Given the description of an element on the screen output the (x, y) to click on. 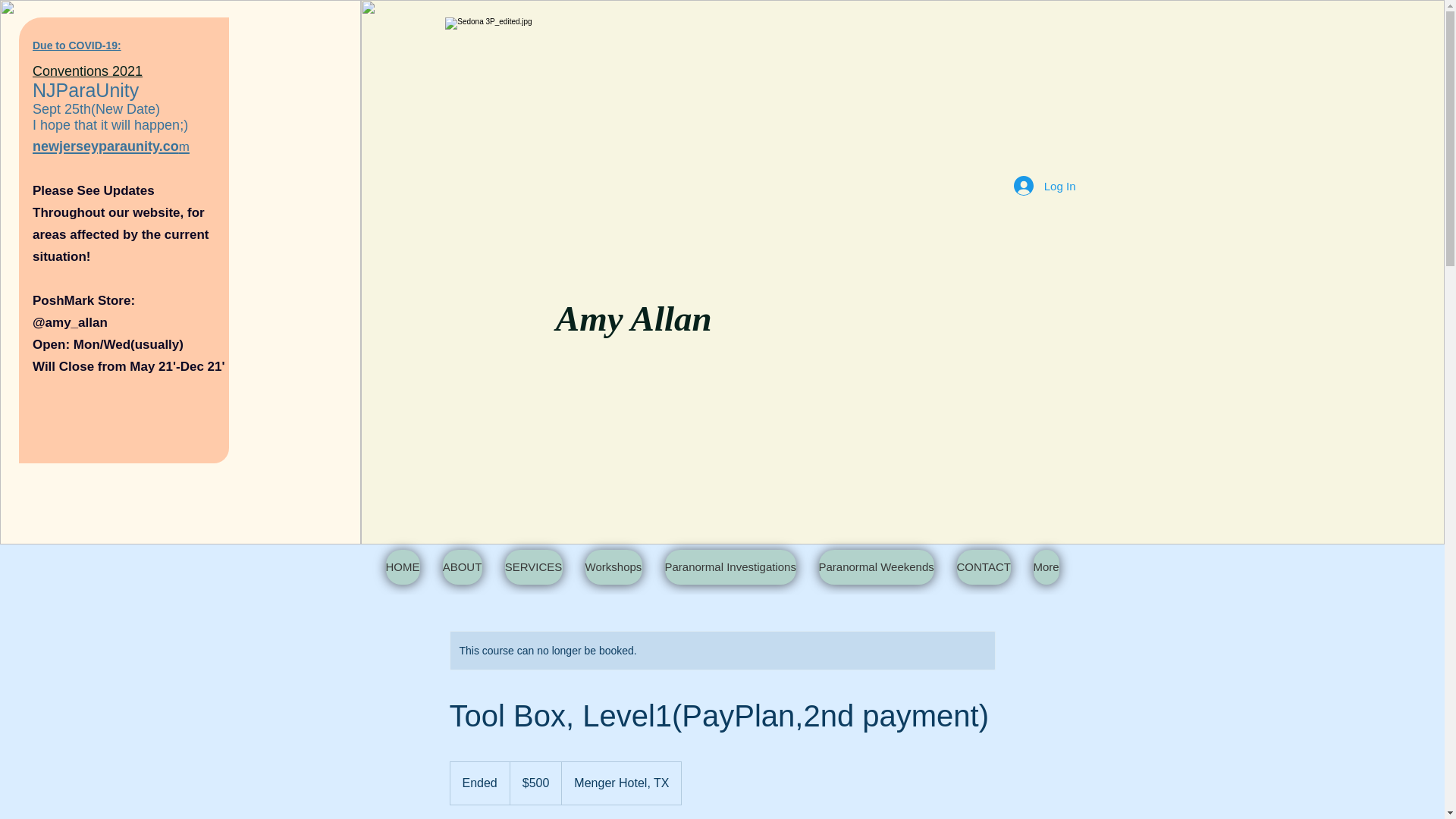
Workshops (613, 566)
ABOUT (461, 566)
Log In (1044, 185)
CONTACT (983, 566)
Amy Allan (633, 318)
Paranormal Weekends (876, 566)
HOME (402, 566)
SERVICES (533, 566)
Paranormal Investigations (728, 566)
